Given the description of an element on the screen output the (x, y) to click on. 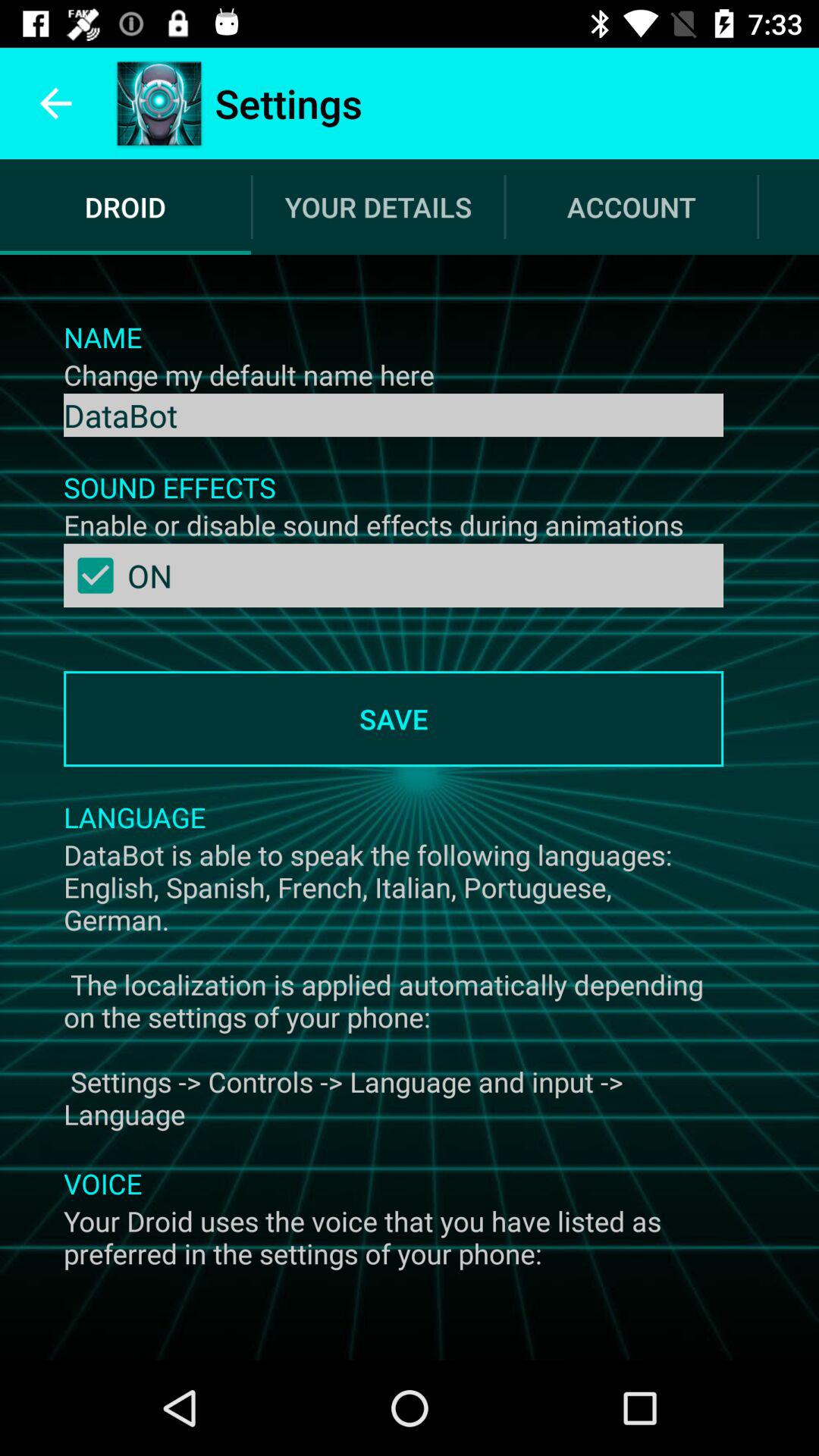
turn off icon above droid item (55, 103)
